Given the description of an element on the screen output the (x, y) to click on. 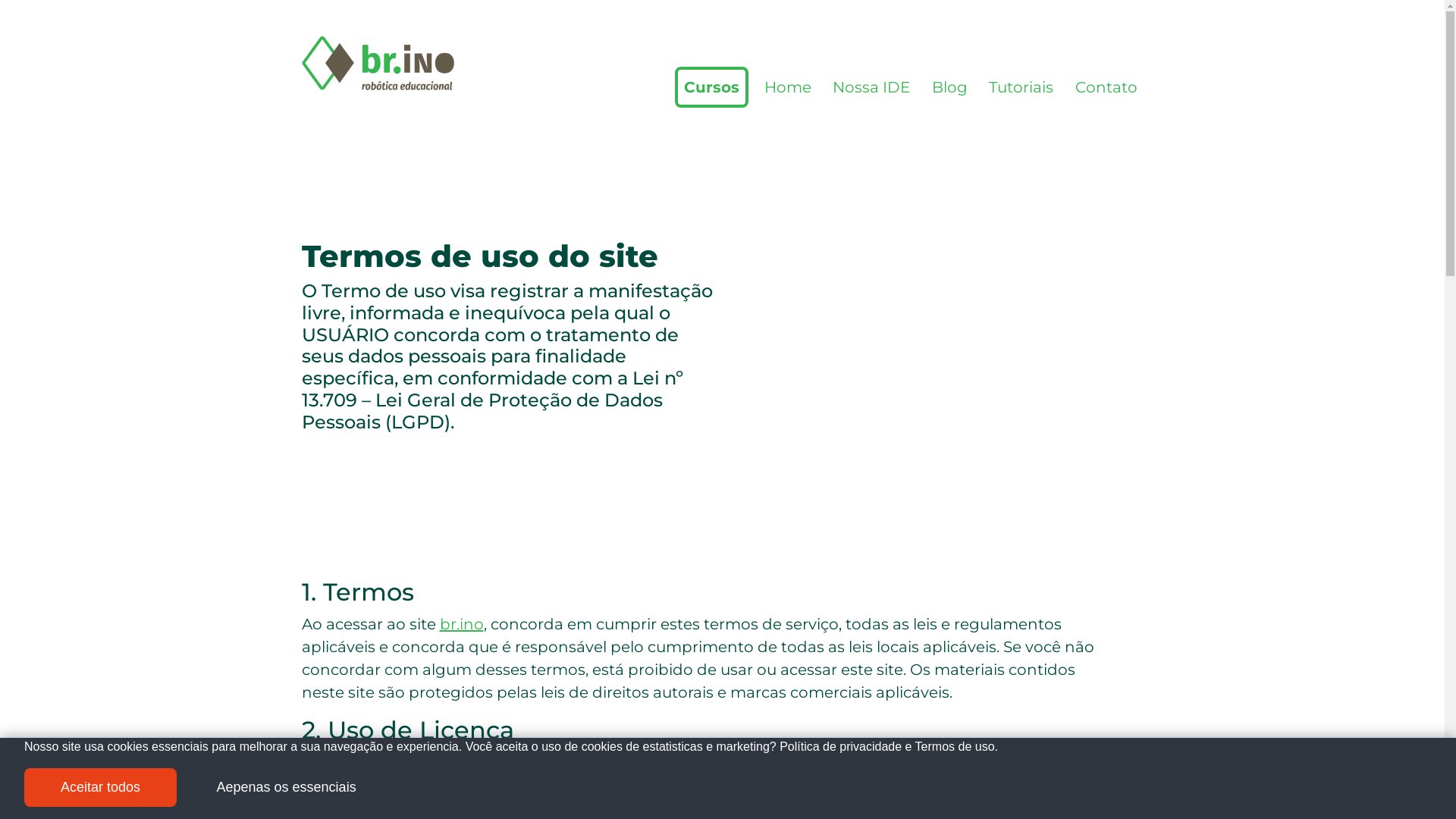
Cursos Element type: text (711, 86)
Blog Element type: text (949, 86)
Aepenas os essenciais Element type: text (286, 787)
Home Element type: text (787, 86)
br.ino Element type: text (461, 624)
Tutoriais Element type: text (1020, 86)
Nossa IDE Element type: text (871, 86)
Aceitar todos Element type: text (100, 787)
Termos de uso Element type: text (954, 746)
Contato Element type: text (1106, 86)
